Given the description of an element on the screen output the (x, y) to click on. 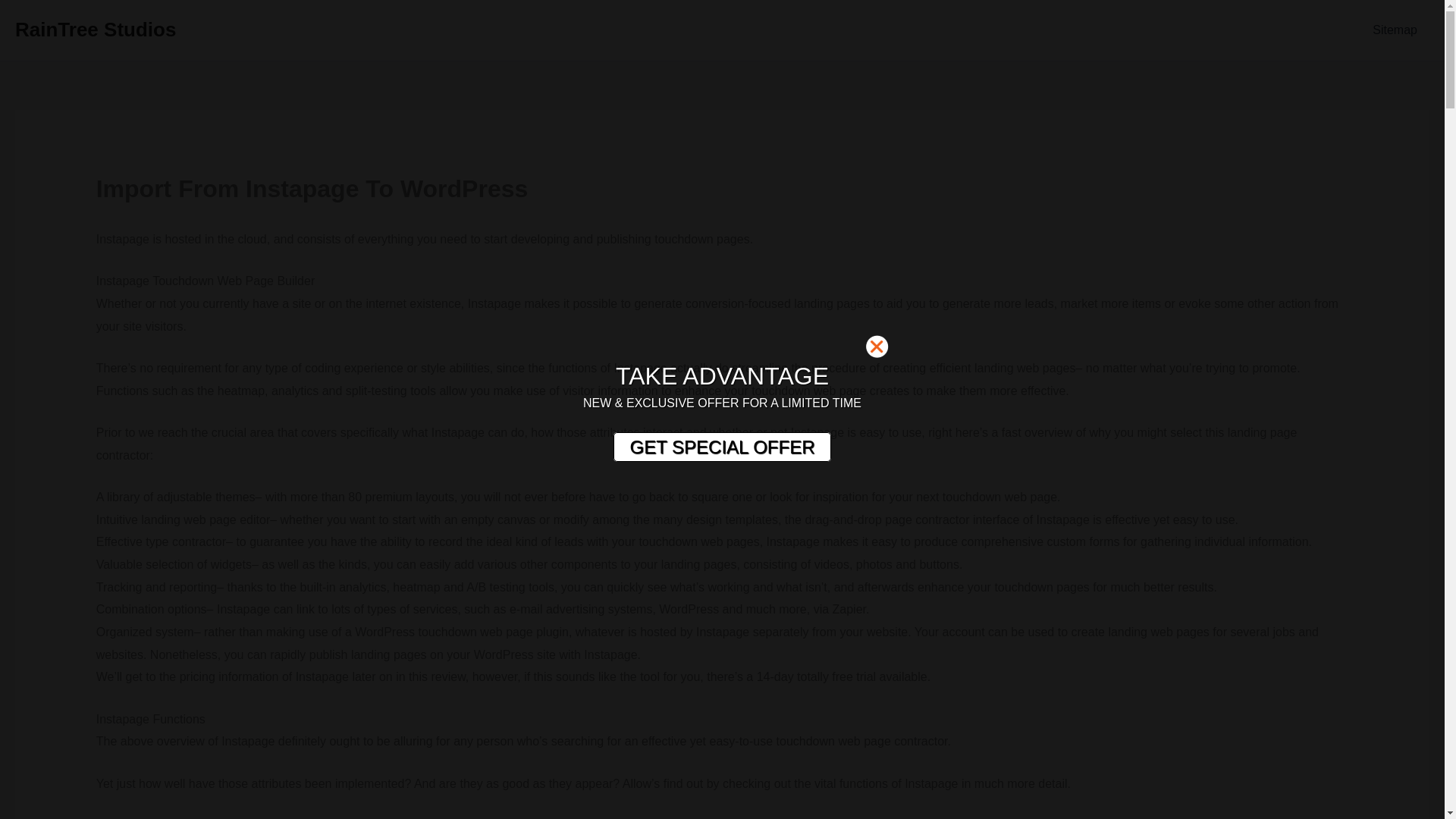
GET SPECIAL OFFER (720, 446)
RainTree Studios (95, 29)
Sitemap (1394, 30)
